Given the description of an element on the screen output the (x, y) to click on. 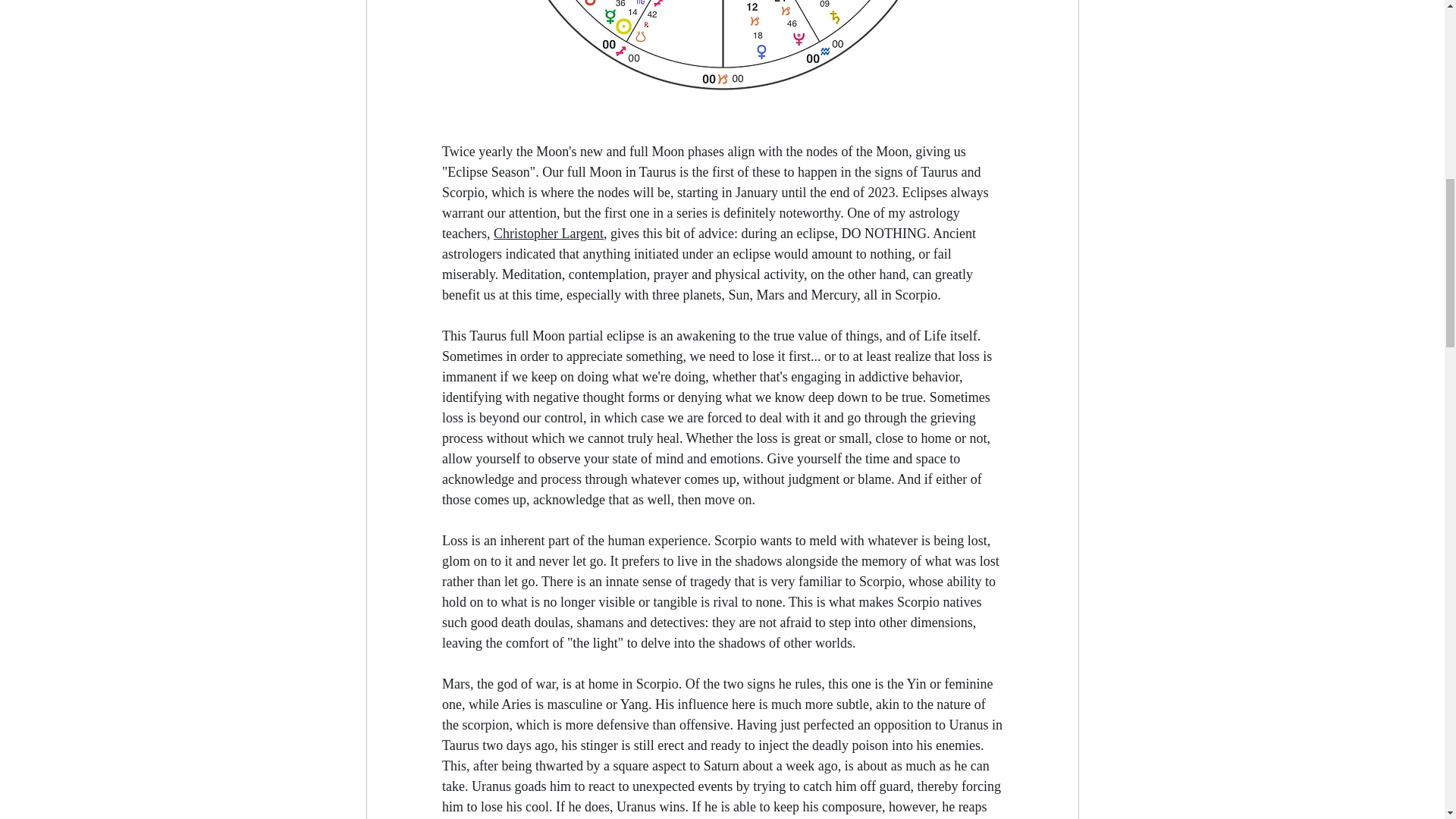
Christopher Largent (547, 233)
